Given the description of an element on the screen output the (x, y) to click on. 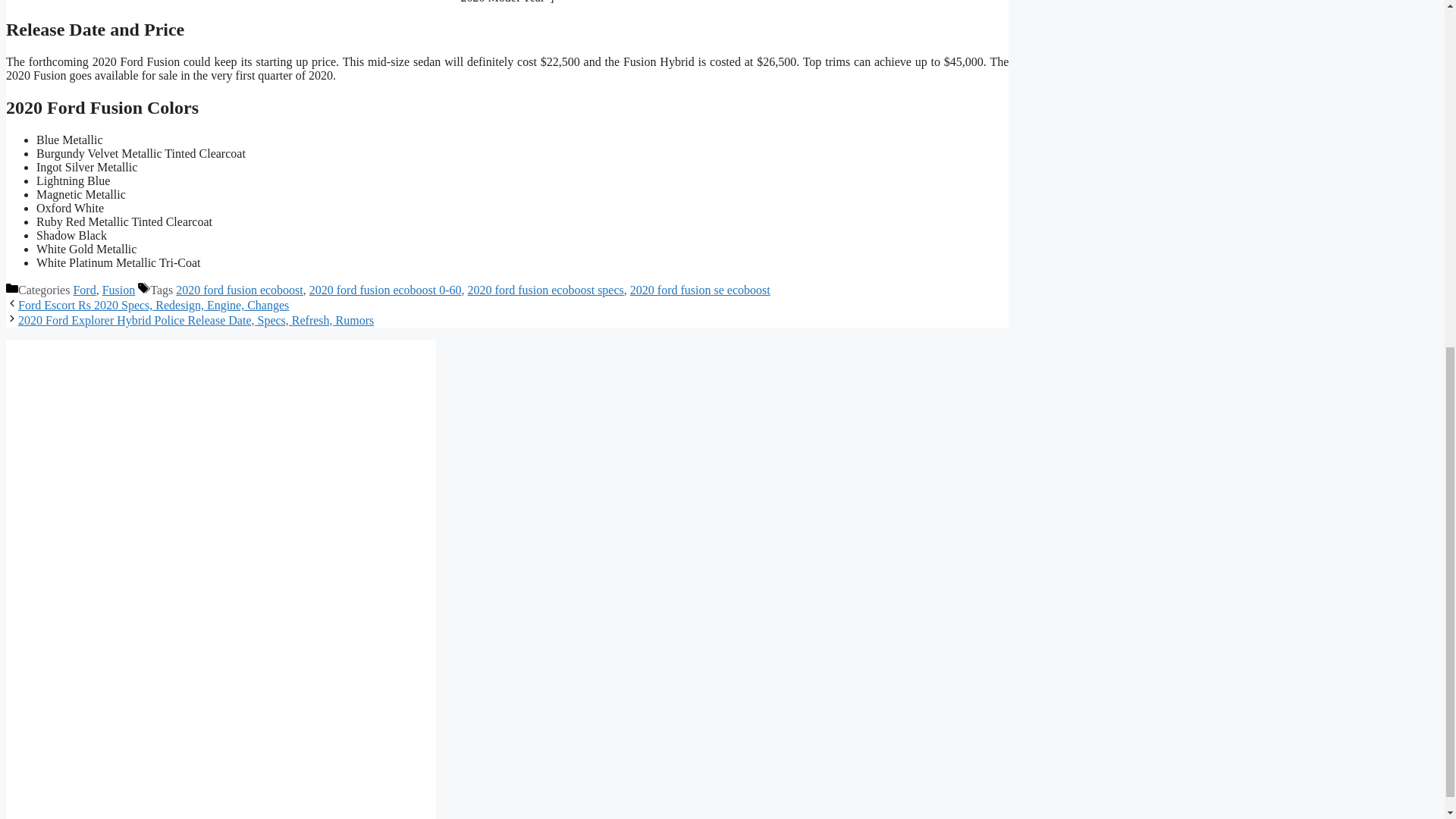
2020 ford fusion ecoboost 0-60 (384, 289)
2020 ford fusion se ecoboost (700, 289)
Ford Escort Rs 2020 Specs, Redesign, Engine, Changes (152, 305)
2020 ford fusion ecoboost specs (545, 289)
Ford (84, 289)
2020 ford fusion ecoboost (239, 289)
Fusion (118, 289)
